Given the description of an element on the screen output the (x, y) to click on. 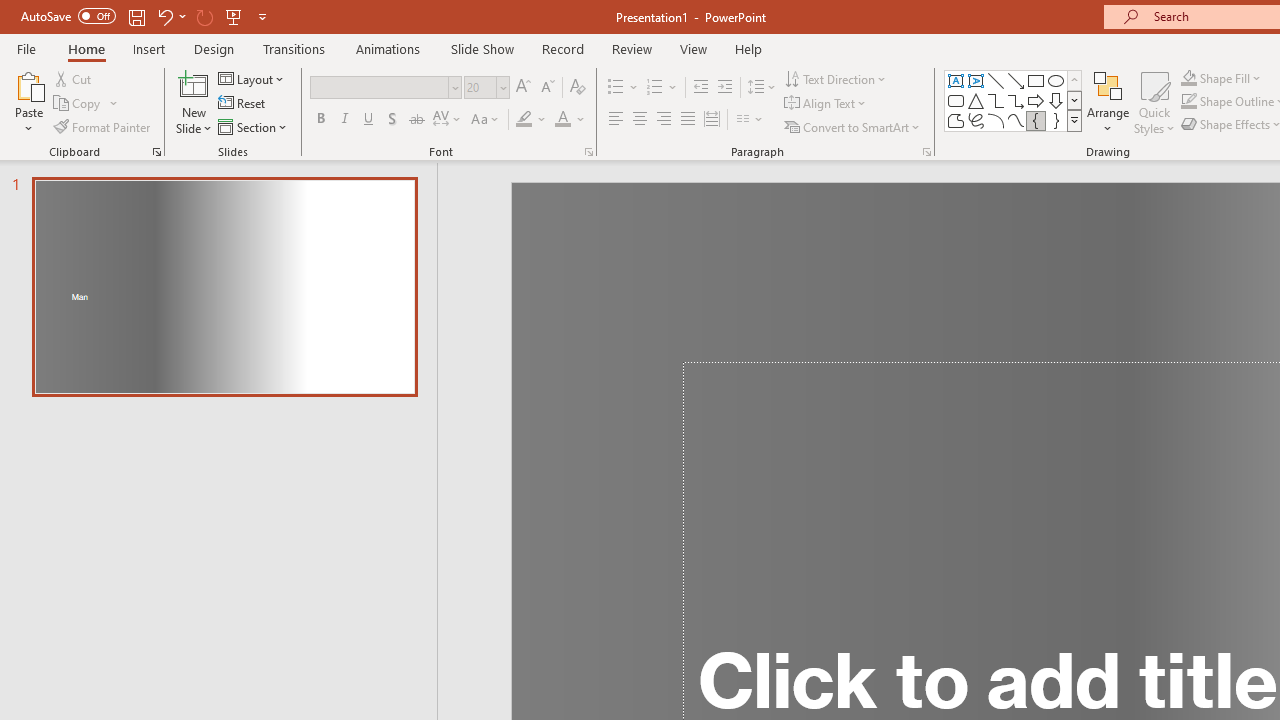
Arrow: Right (1035, 100)
Office Clipboard... (156, 151)
Font Color Red (562, 119)
AutomationID: ShapesInsertGallery (1014, 100)
Align Text (826, 103)
Distributed (712, 119)
Shape Outline Blue, Accent 1 (1188, 101)
Curve (1016, 120)
